Given the description of an element on the screen output the (x, y) to click on. 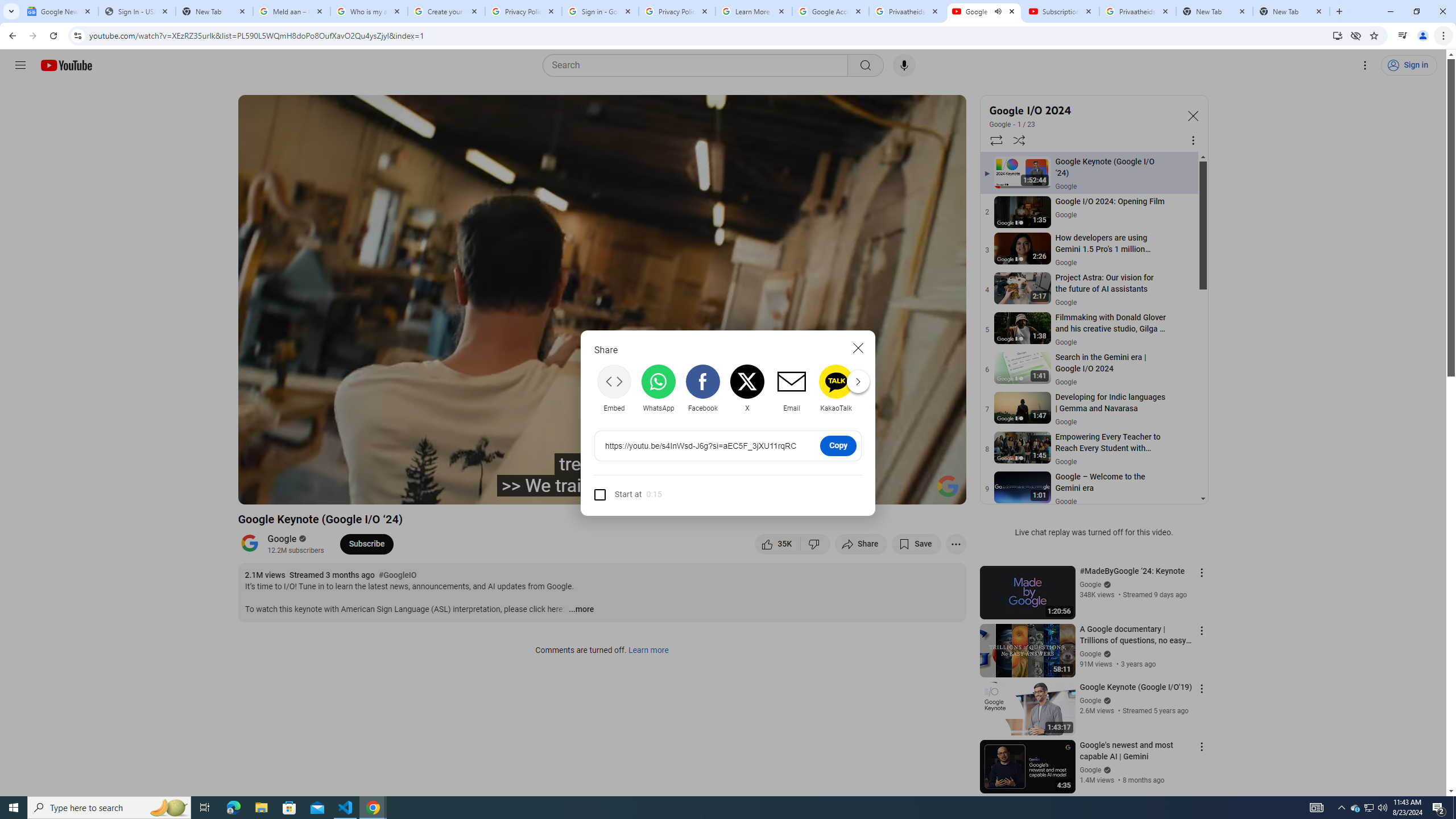
Mute tab (997, 10)
New Tab (1291, 11)
